Given the description of an element on the screen output the (x, y) to click on. 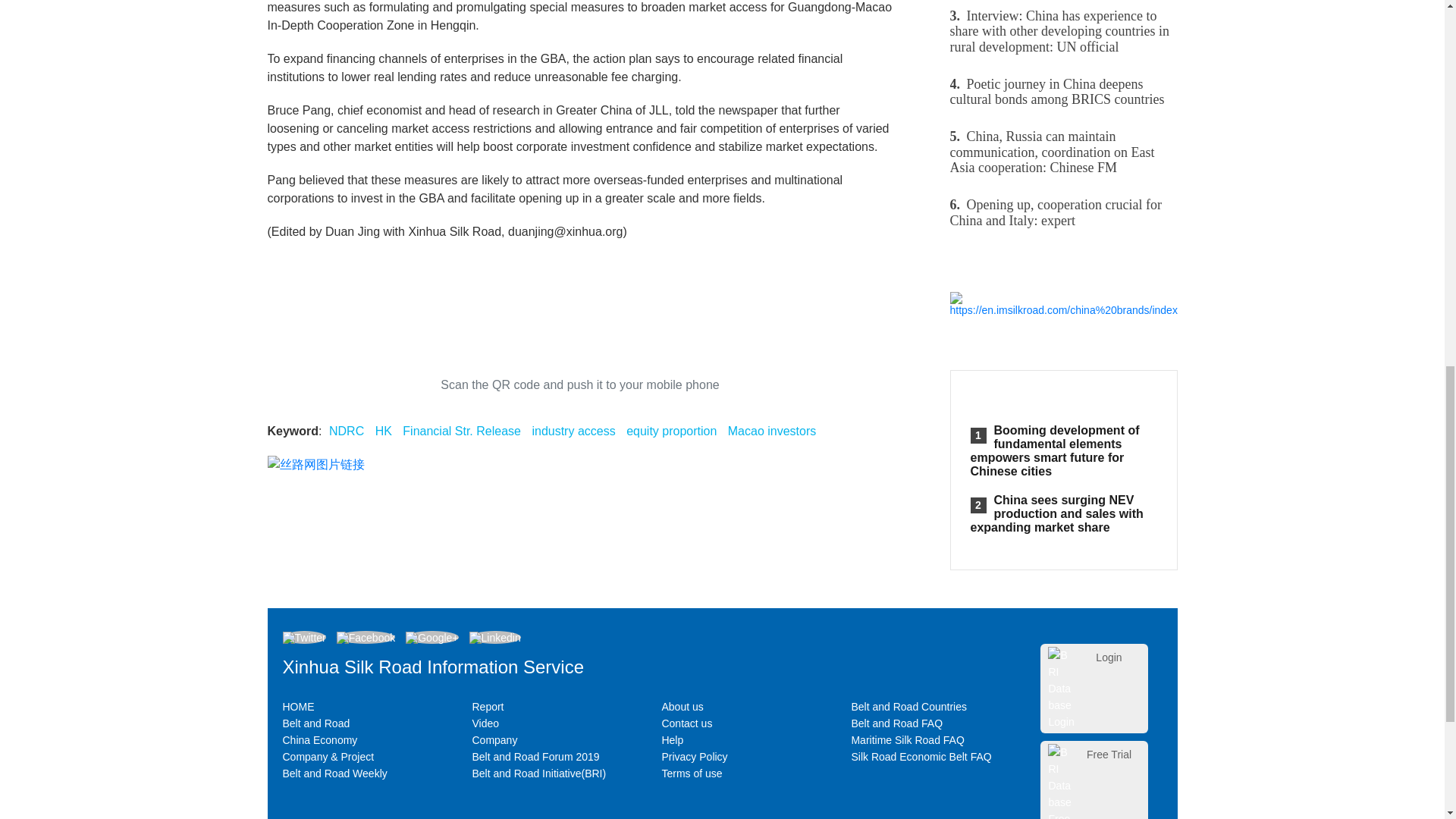
Opening up, cooperation crucial for China and Italy: expert (1062, 212)
